Given the description of an element on the screen output the (x, y) to click on. 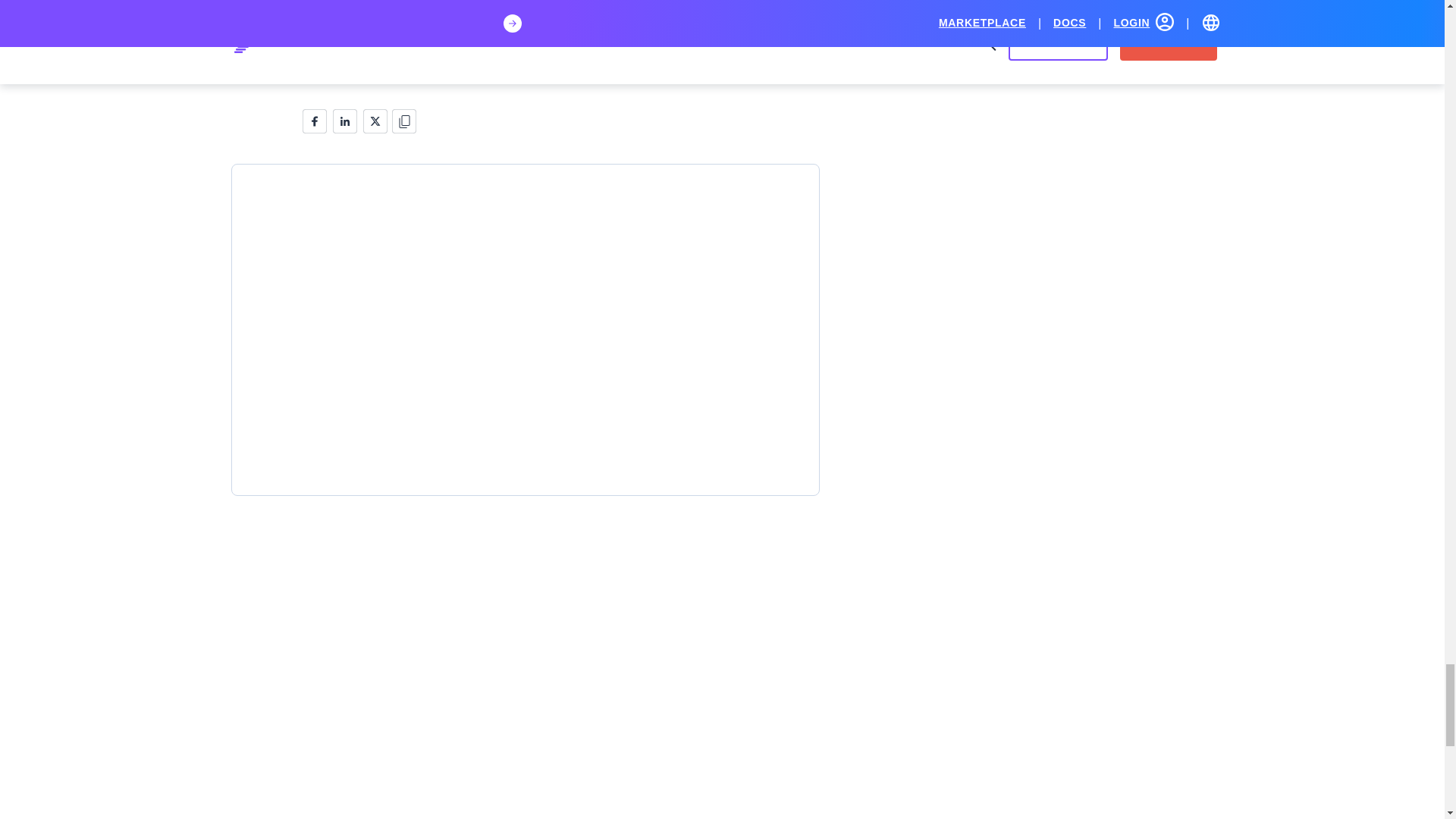
Share on LinkedIn (344, 119)
Share on Facebook (314, 119)
Share on Twitter (374, 119)
Copy (404, 119)
